Given the description of an element on the screen output the (x, y) to click on. 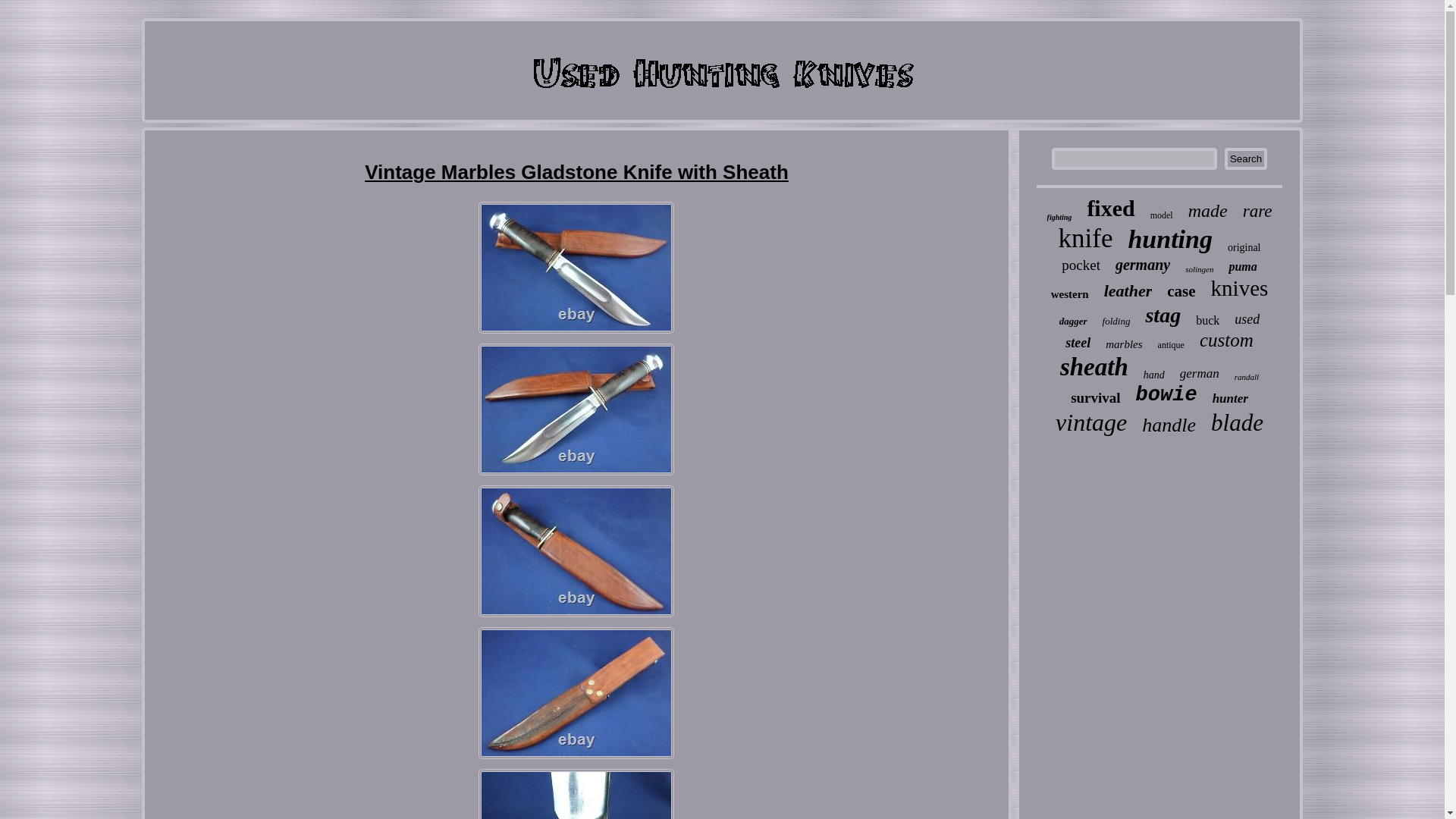
Vintage Marbles Gladstone Knife with Sheath (576, 267)
original (1243, 247)
solingen (1198, 268)
knife (1085, 238)
Search (1245, 158)
germany (1142, 264)
rare (1257, 211)
Vintage Marbles Gladstone Knife with Sheath (576, 409)
pocket (1080, 265)
model (1161, 215)
Vintage Marbles Gladstone Knife with Sheath (576, 551)
Vintage Marbles Gladstone Knife with Sheath (576, 693)
fixed (1110, 208)
fighting (1058, 216)
Search (1245, 158)
